Given the description of an element on the screen output the (x, y) to click on. 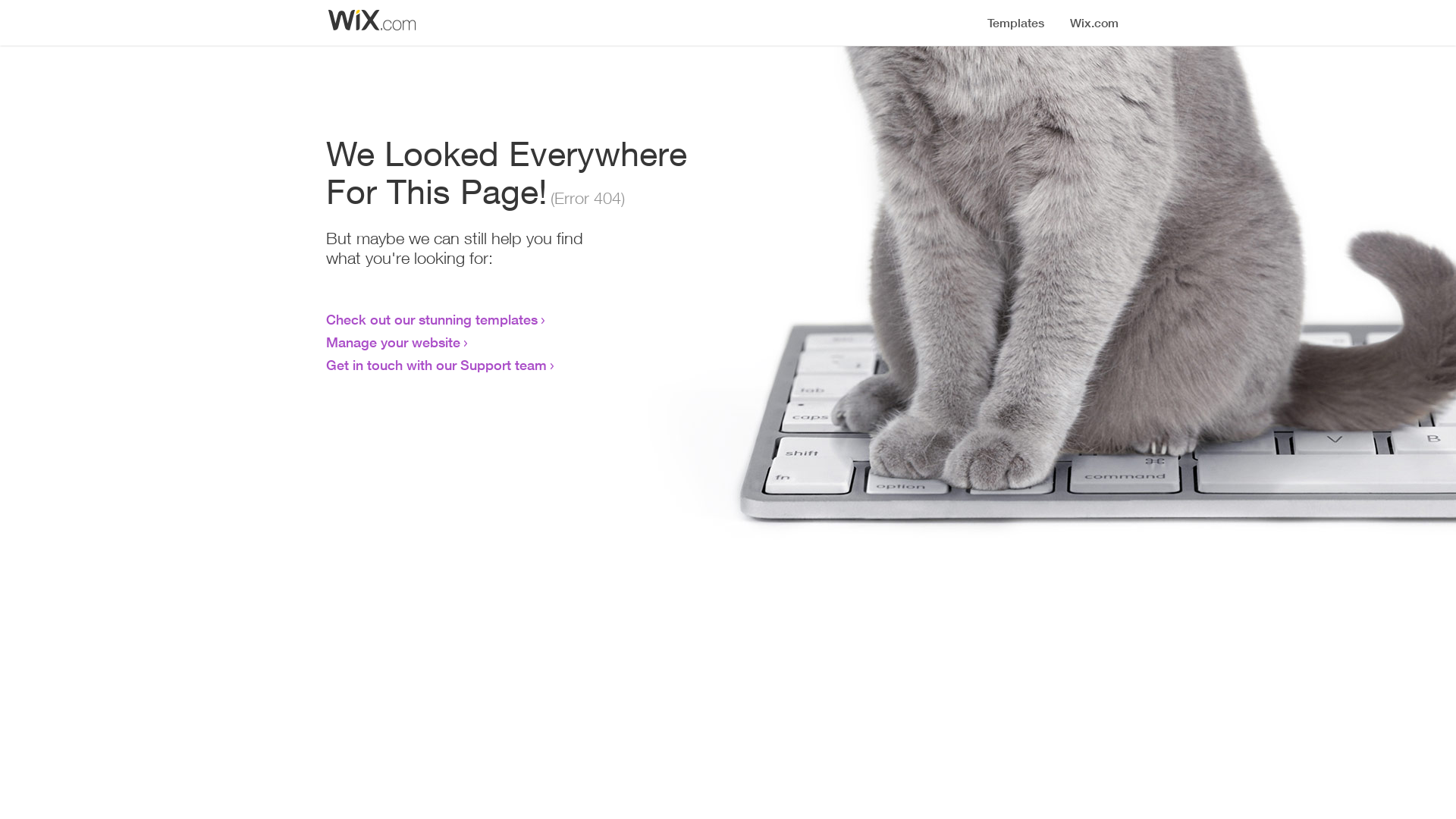
Manage your website Element type: text (393, 341)
Get in touch with our Support team Element type: text (436, 364)
Check out our stunning templates Element type: text (431, 318)
